Given the description of an element on the screen output the (x, y) to click on. 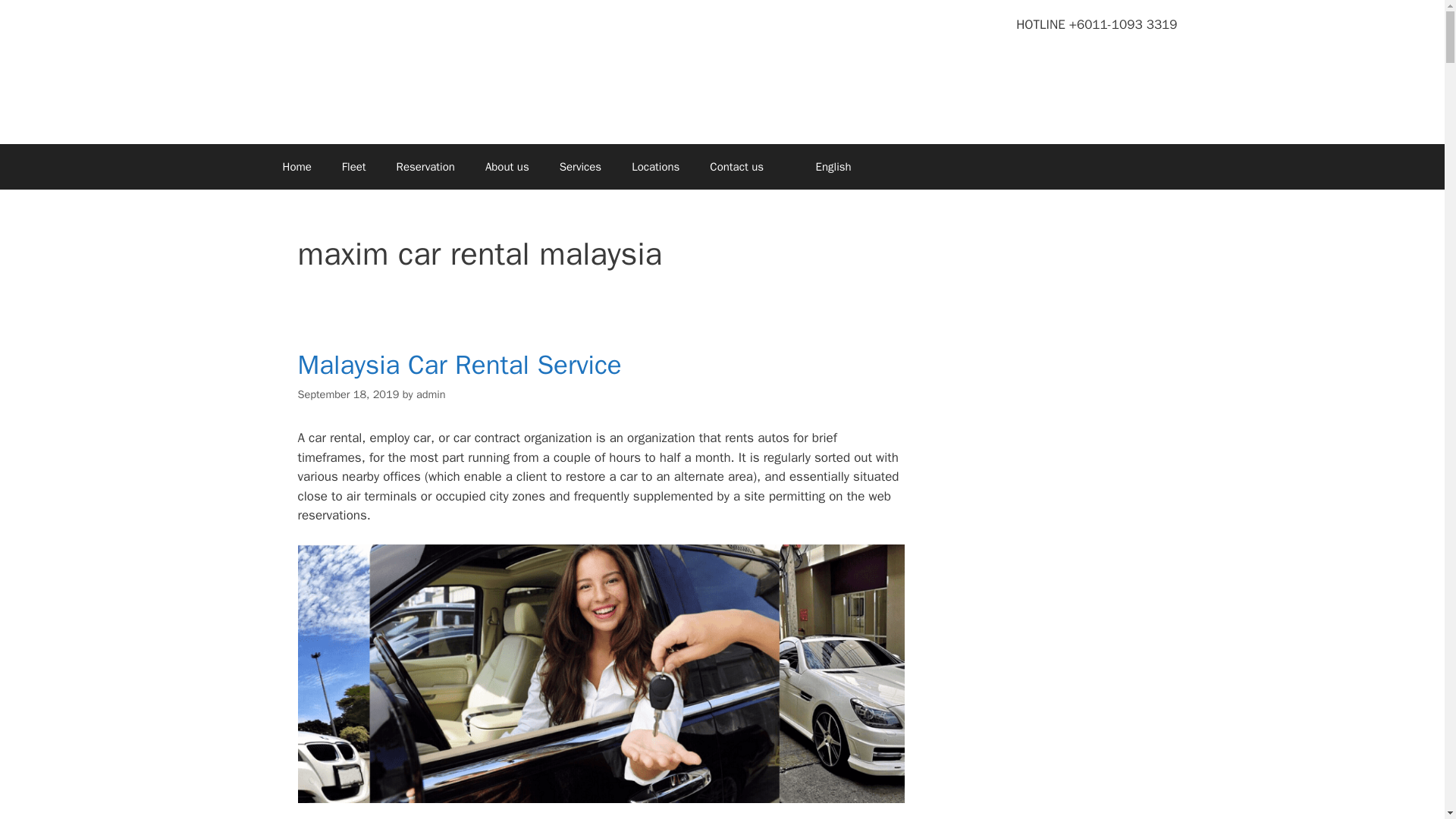
Reservation (425, 166)
View all posts by admin (430, 394)
Locations (654, 166)
Malaysia Car Rental Service (459, 364)
admin (430, 394)
Services (579, 166)
Fleet (353, 166)
English (814, 166)
About us (507, 166)
Contact us (736, 166)
Home (296, 166)
